Given the description of an element on the screen output the (x, y) to click on. 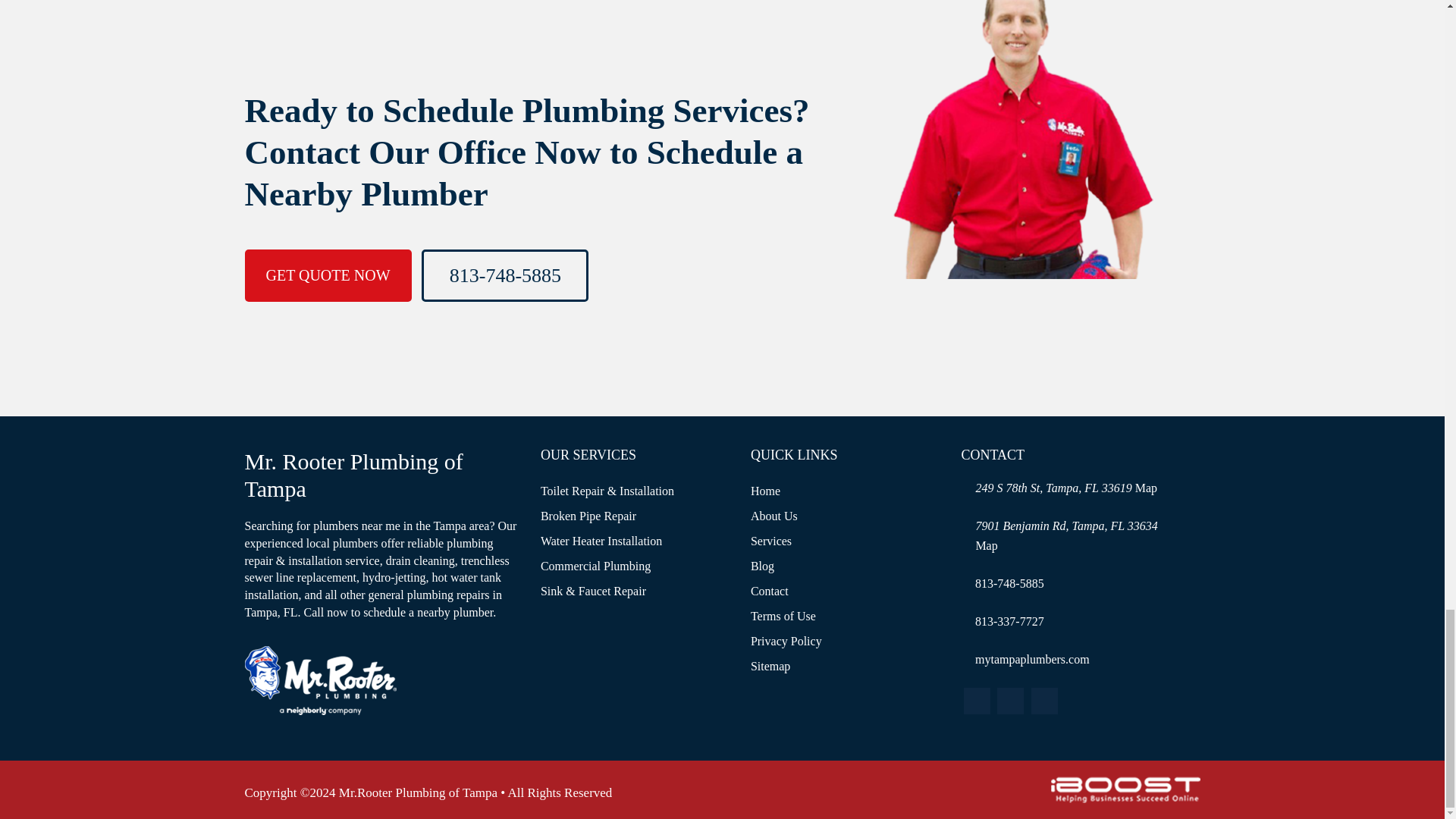
Plumber Near Me (320, 679)
Plumbers in Tampa (986, 545)
Plumbers in Tampa (1146, 487)
